Given the description of an element on the screen output the (x, y) to click on. 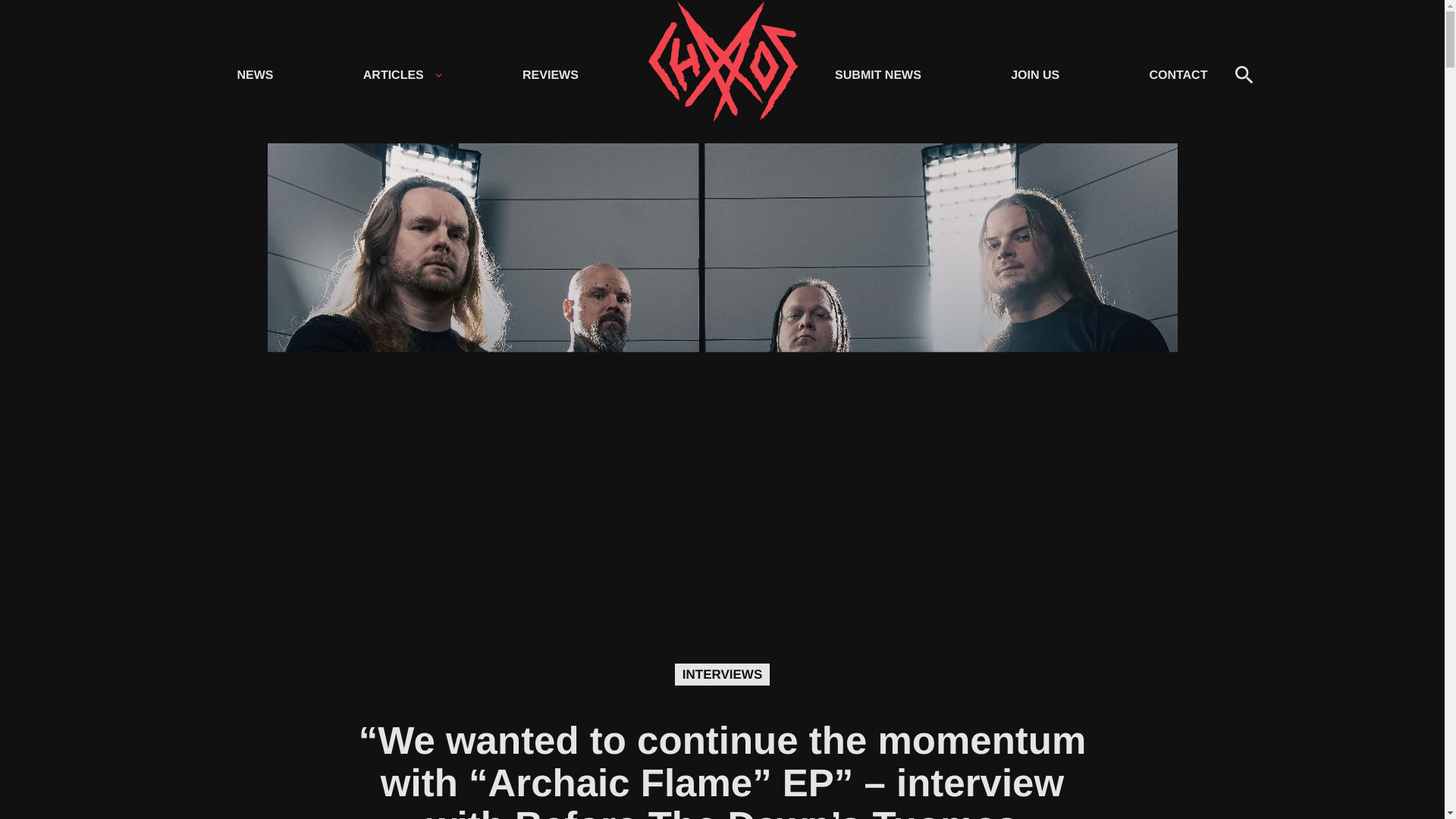
JOIN US (1034, 75)
INTERVIEWS (722, 674)
ARTICLES (391, 75)
NEWS (254, 75)
REVIEWS (550, 75)
Chaoszine (721, 75)
SUBMIT NEWS (877, 75)
CONTACT (1178, 75)
